Given the description of an element on the screen output the (x, y) to click on. 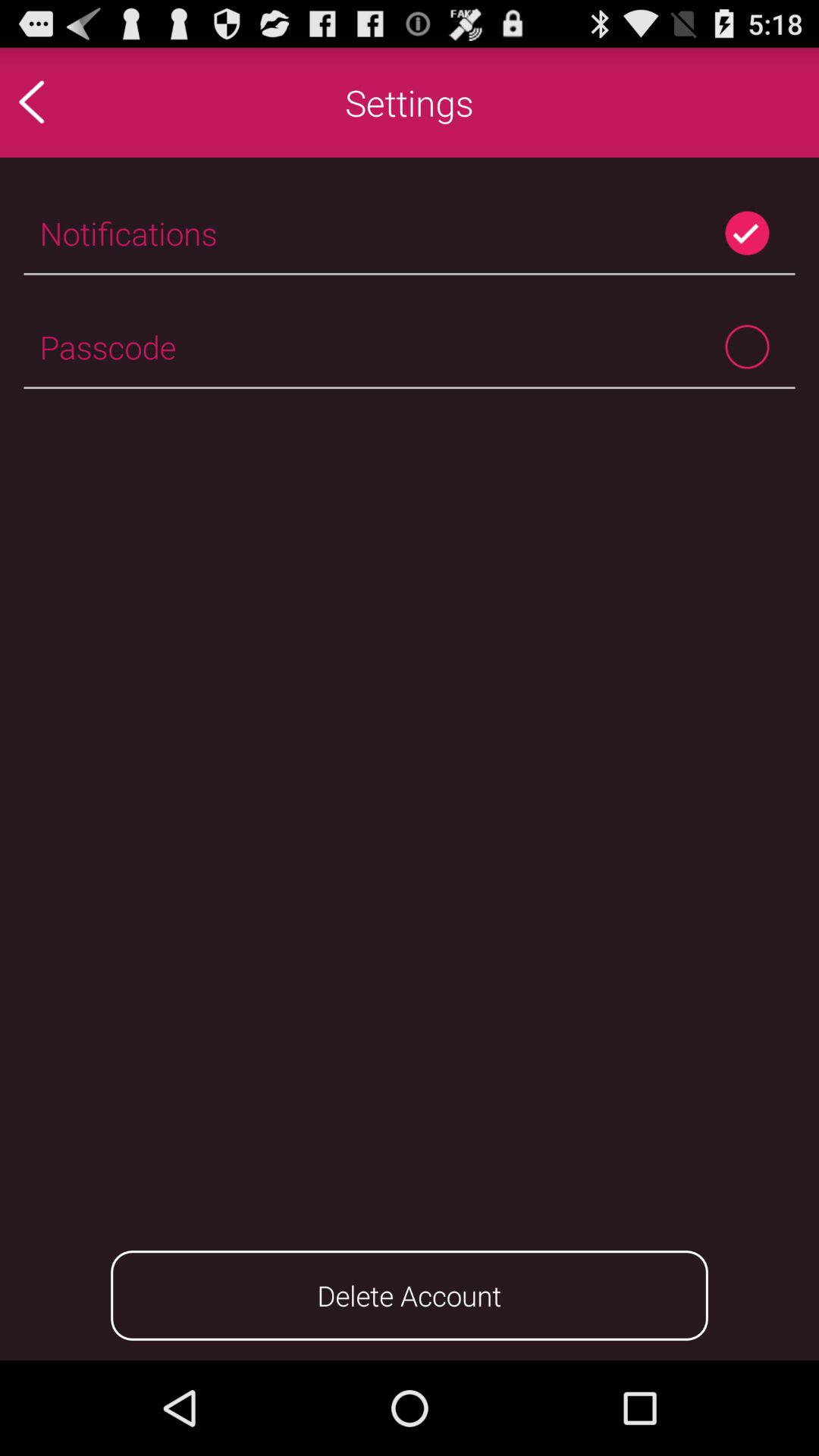
press the icon at the bottom (409, 1295)
